Given the description of an element on the screen output the (x, y) to click on. 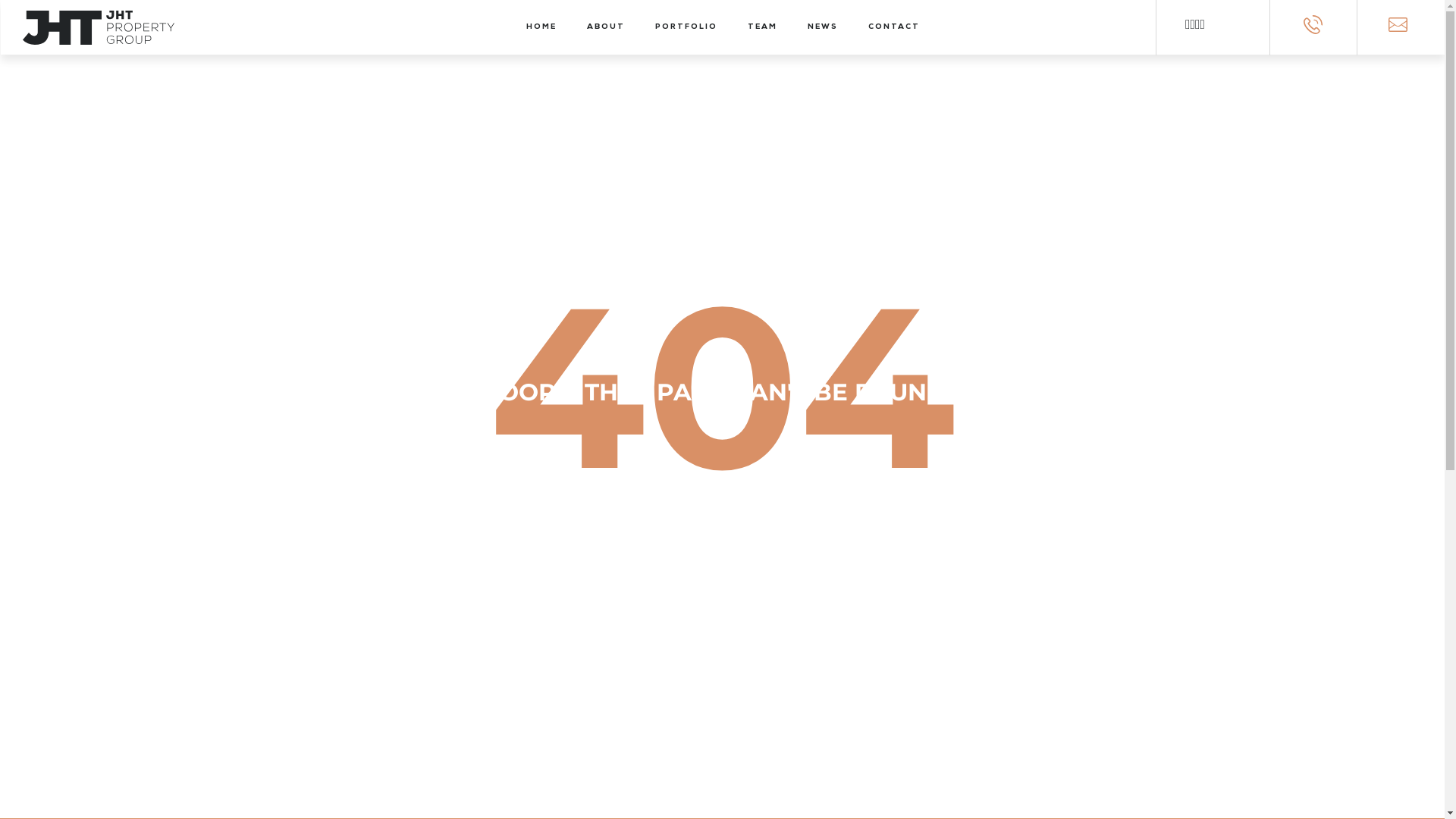
NEWS Element type: text (822, 27)
ABOUT Element type: text (605, 27)
CONTACT Element type: text (893, 27)
HOME Element type: text (541, 27)
PORTFOLIO Element type: text (686, 27)
Home Page Element type: text (722, 613)
TEAM Element type: text (762, 27)
